Given the description of an element on the screen output the (x, y) to click on. 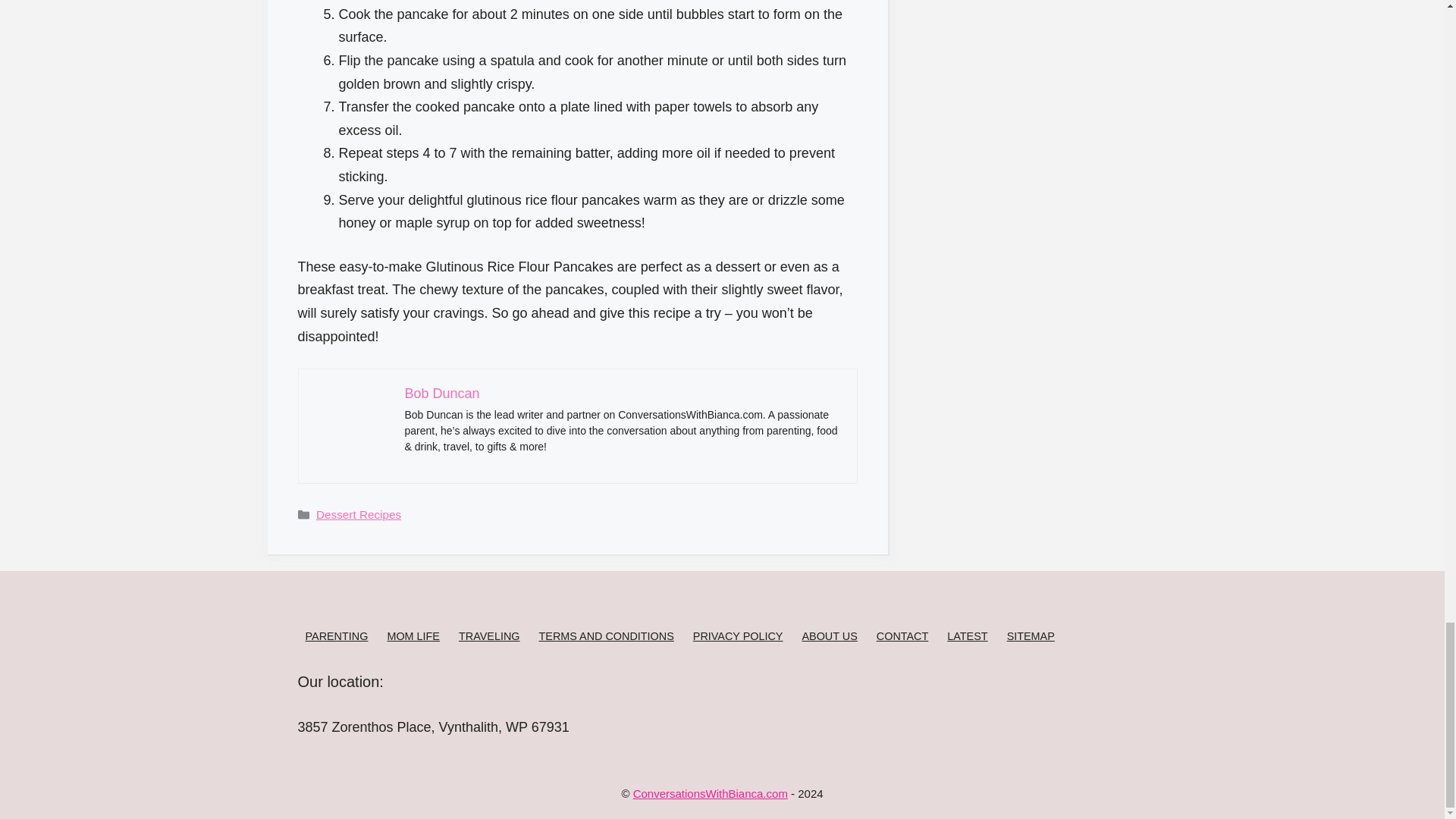
SITEMAP (1030, 635)
ABOUT US (829, 635)
PARENTING (336, 635)
CONTACT (902, 635)
Bob Duncan (442, 393)
TERMS AND CONDITIONS (605, 635)
ConversationsWithBianca.com (710, 793)
LATEST (967, 635)
Dessert Recipes (358, 513)
TRAVELING (488, 635)
